Given the description of an element on the screen output the (x, y) to click on. 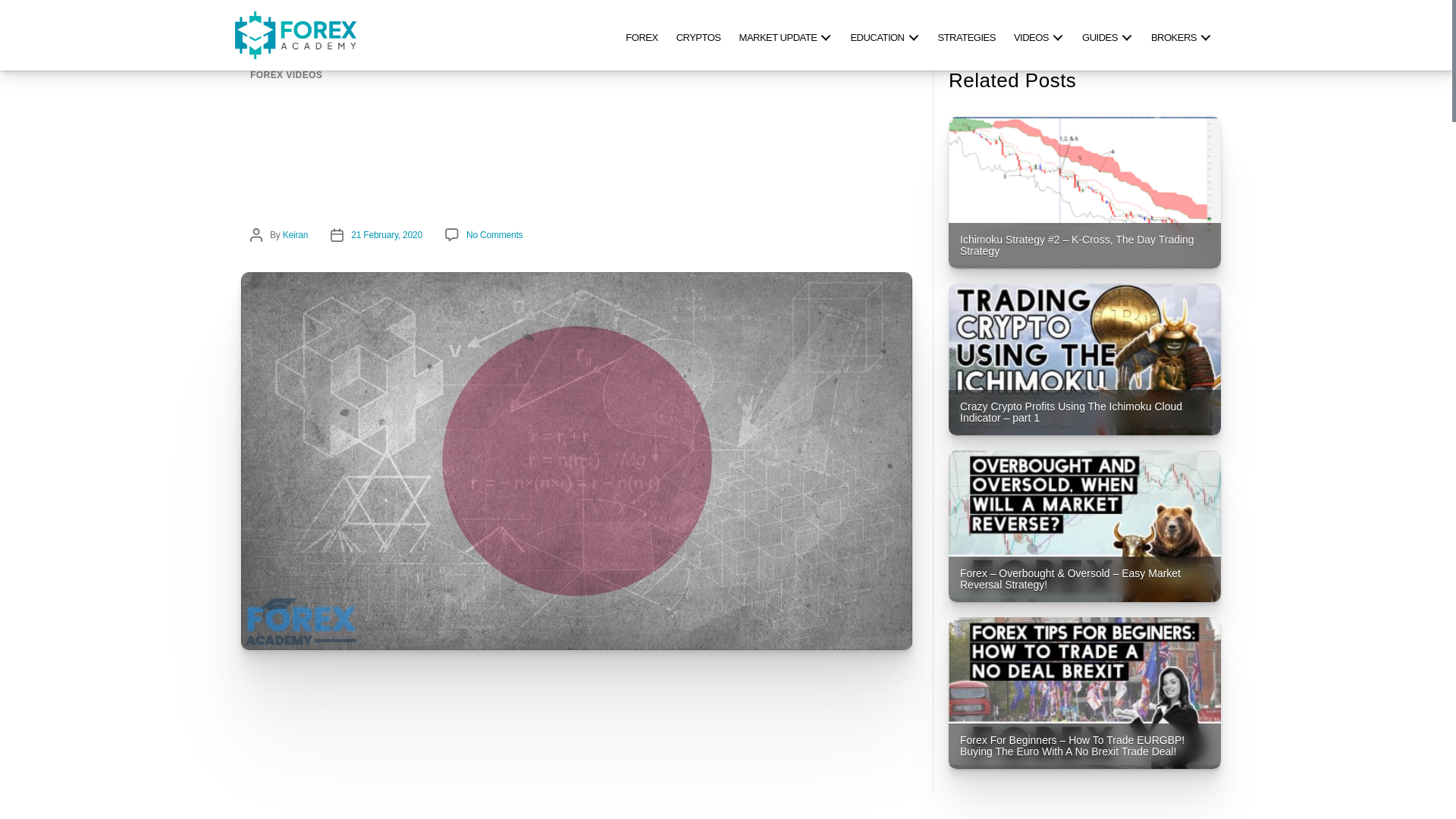
VIDEOS (1038, 35)
MARKET UPDATE (785, 35)
GUIDES (1107, 35)
BROKERS (1181, 35)
Make Money In Forex Using The Ichimoku Cloud indicator! (470, 764)
CRYPTOS (698, 35)
STRATEGIES (966, 35)
EDUCATION (884, 35)
